Given the description of an element on the screen output the (x, y) to click on. 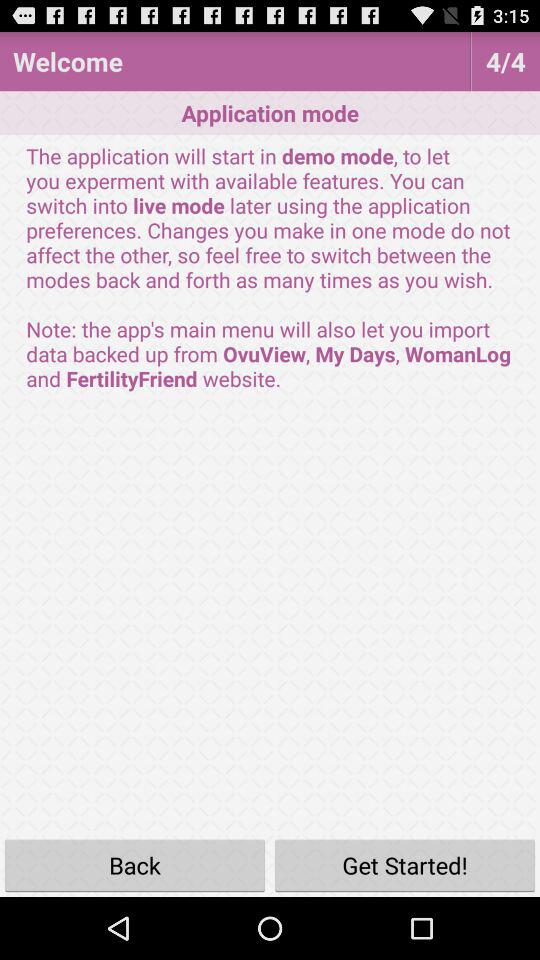
tap button at the bottom right corner (405, 864)
